Given the description of an element on the screen output the (x, y) to click on. 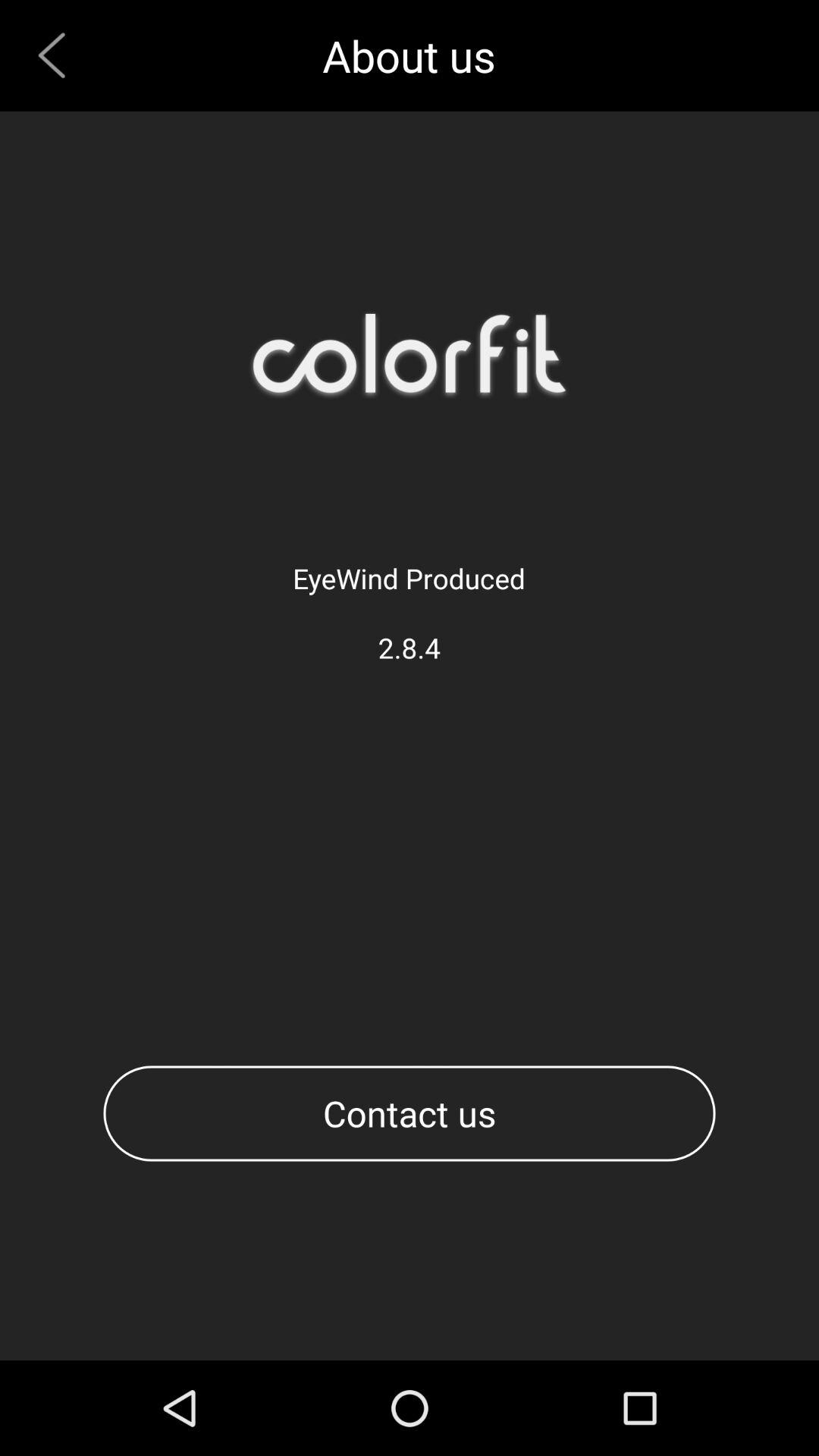
go back (57, 55)
